Given the description of an element on the screen output the (x, y) to click on. 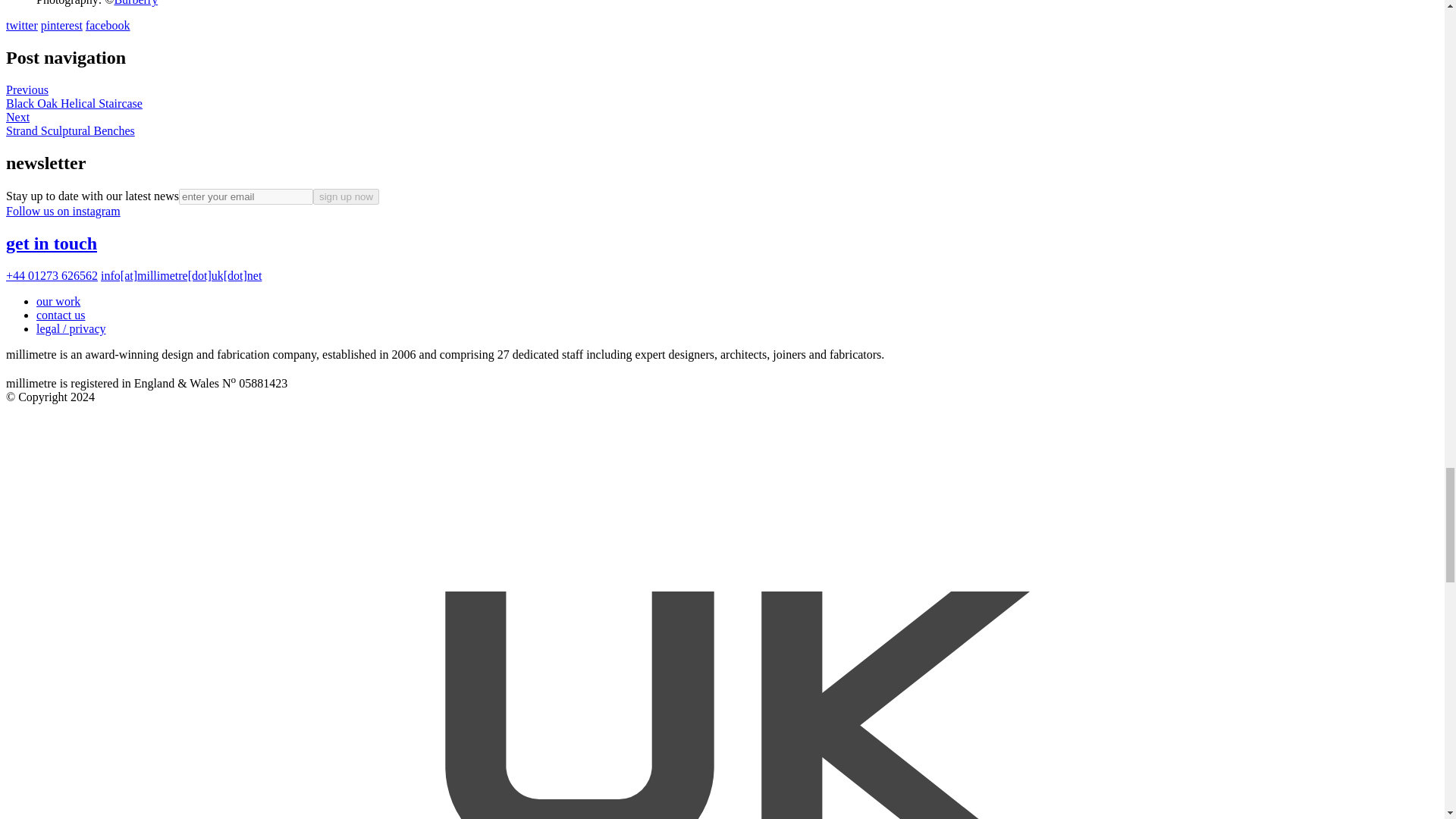
sign up now (345, 196)
